Given the description of an element on the screen output the (x, y) to click on. 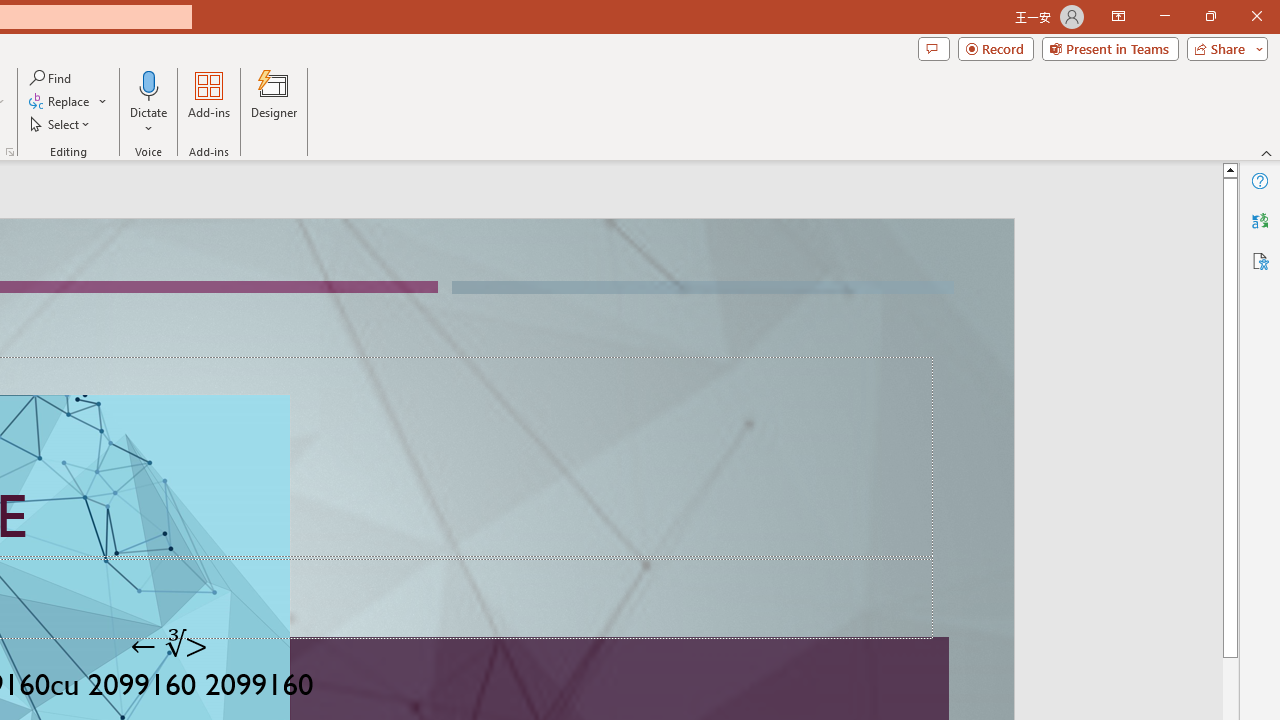
TextBox 7 (169, 645)
